Given the description of an element on the screen output the (x, y) to click on. 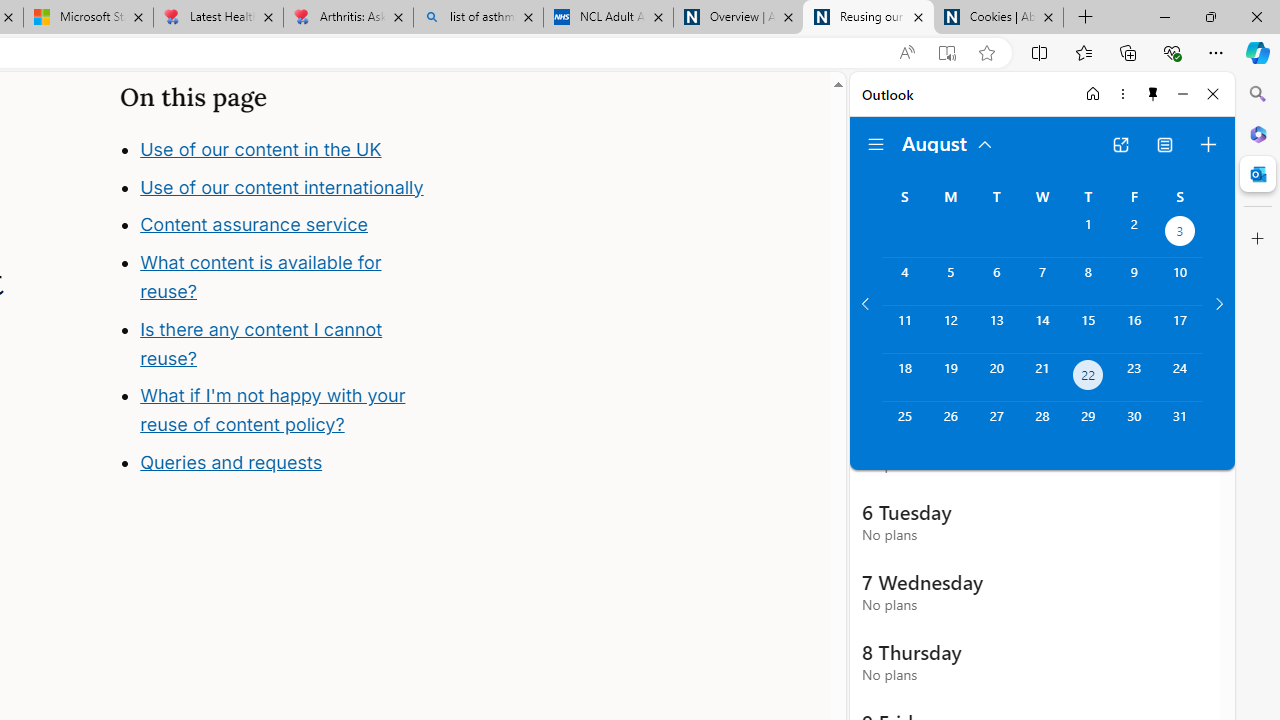
What content is available for reuse? (260, 276)
Sunday, August 25, 2024.  (904, 425)
Enter Immersive Reader (F9) (946, 53)
Sunday, August 11, 2024.  (904, 329)
Content assurance service (253, 224)
Wednesday, August 14, 2024.  (1042, 329)
What content is available for reuse? (298, 321)
Wednesday, August 28, 2024.  (1042, 425)
Monday, August 26, 2024.  (950, 425)
Open in new tab (1120, 144)
Cookies | About | NICE (998, 17)
Is there any content I cannot reuse? (260, 343)
